Given the description of an element on the screen output the (x, y) to click on. 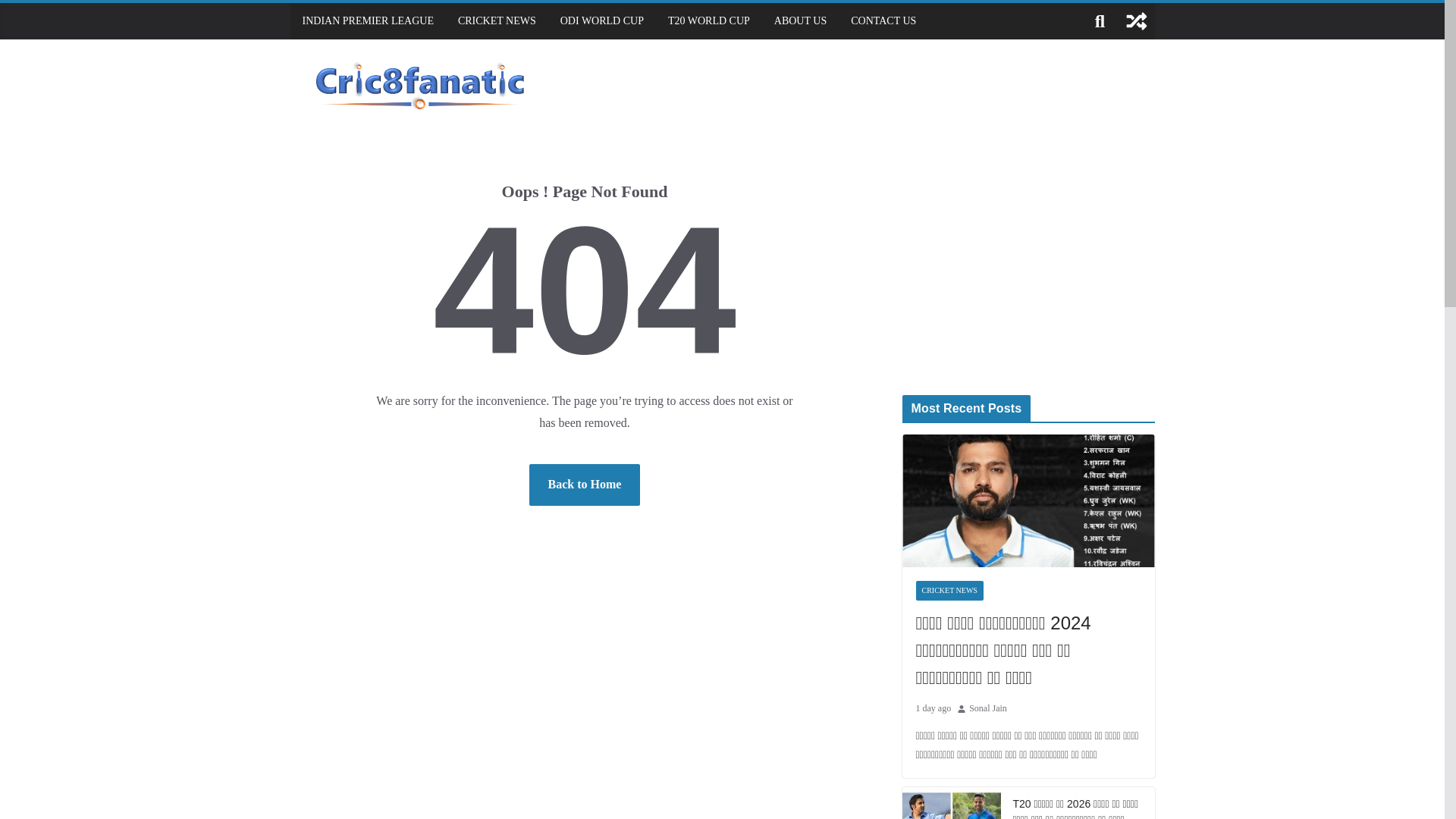
CRICKET NEWS (949, 590)
Sonal Jain (988, 709)
CONTACT US (882, 20)
INDIAN PREMIER LEAGUE (366, 20)
View a random post (1136, 21)
ABOUT US (800, 20)
T20 WORLD CUP (708, 20)
ODI WORLD CUP (601, 20)
Back to Home (584, 485)
Sonal Jain (988, 709)
